Given the description of an element on the screen output the (x, y) to click on. 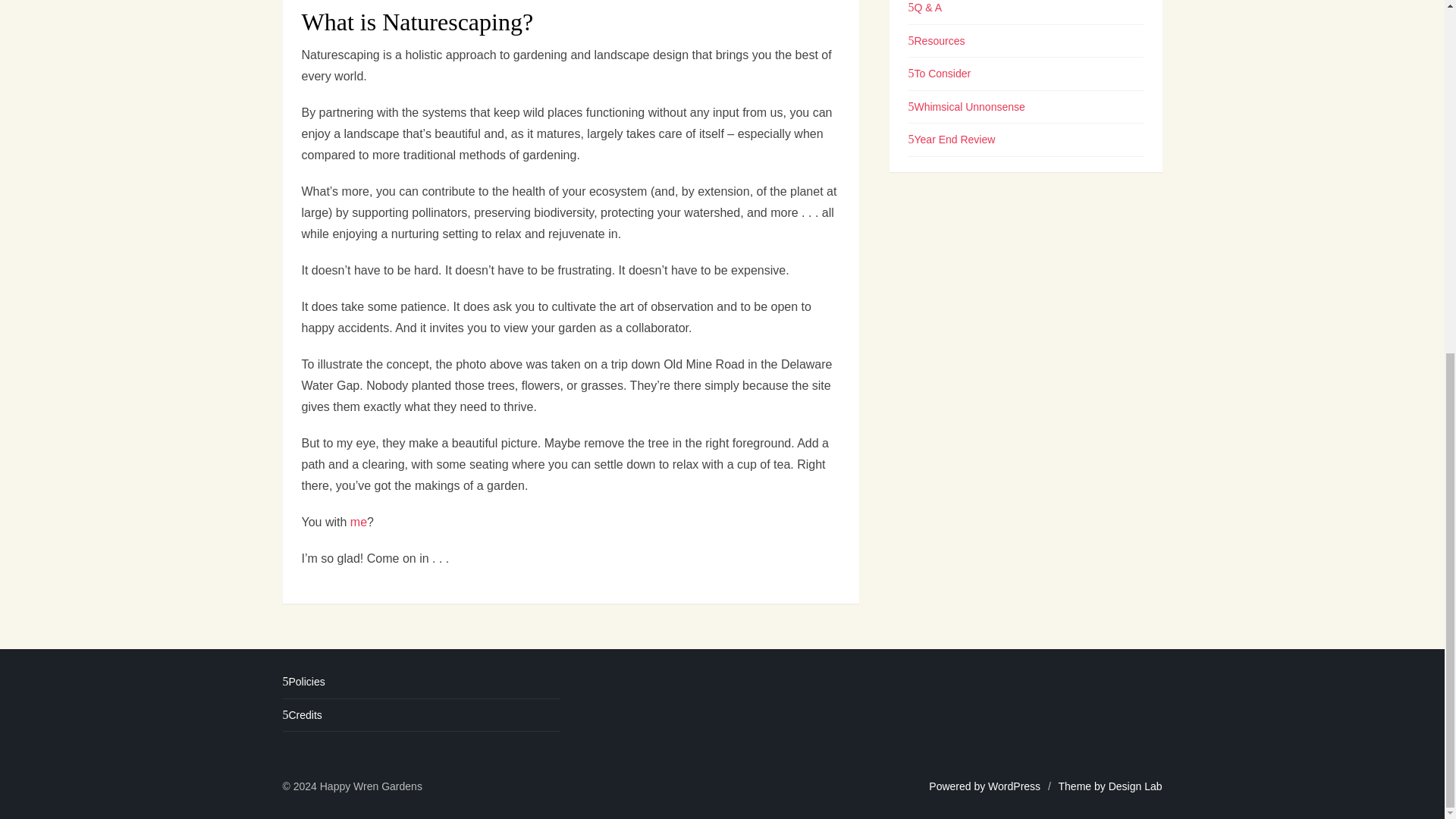
Powered by WordPress (984, 786)
Theme by Design Lab (1109, 786)
Resources (936, 82)
Plant Profiles (942, 17)
me (358, 521)
Policies (303, 681)
To Consider (939, 115)
Whimsical Unnonsense (966, 149)
Credits (301, 715)
Year End Review (951, 182)
